Given the description of an element on the screen output the (x, y) to click on. 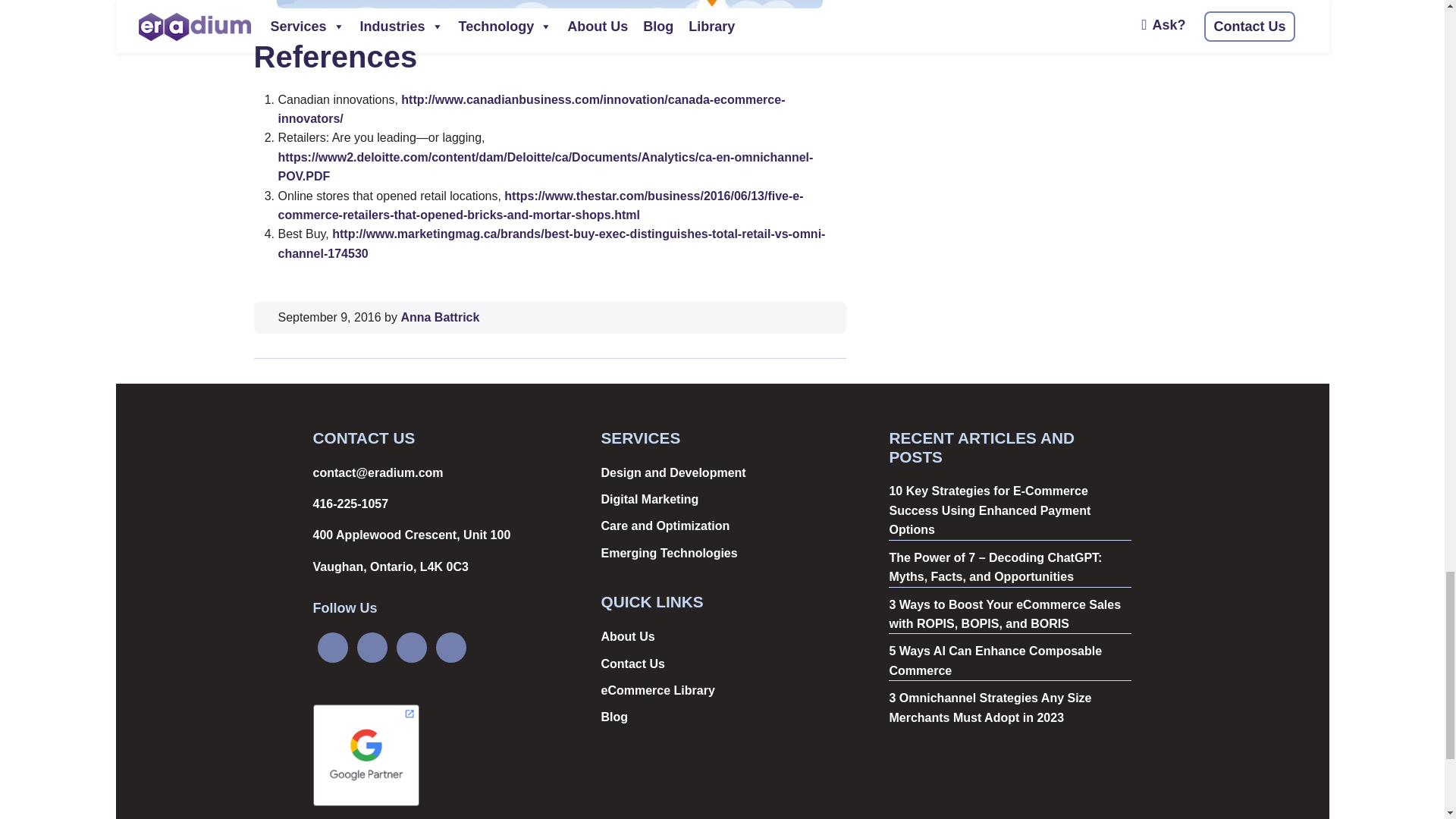
About Us (626, 635)
